Given the description of an element on the screen output the (x, y) to click on. 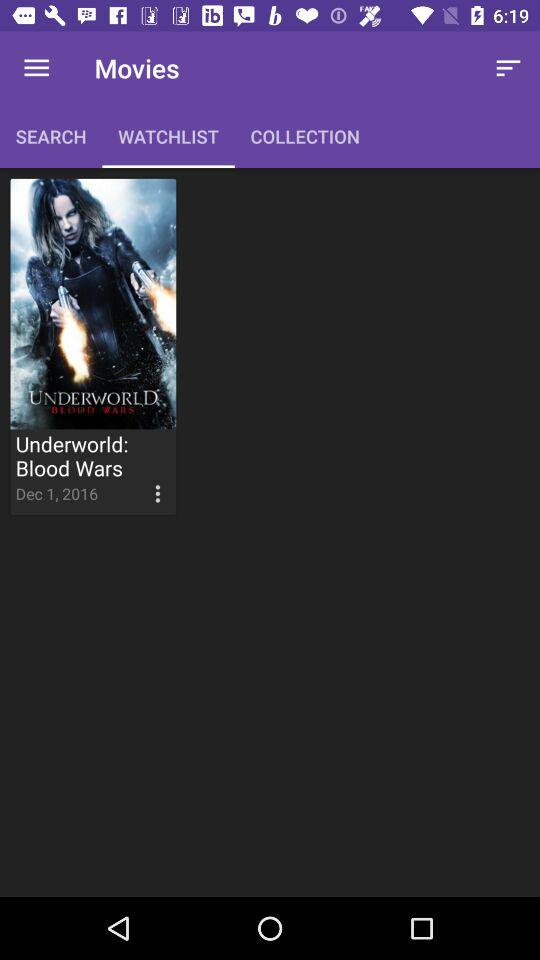
press the item to the left of the movies (36, 68)
